Given the description of an element on the screen output the (x, y) to click on. 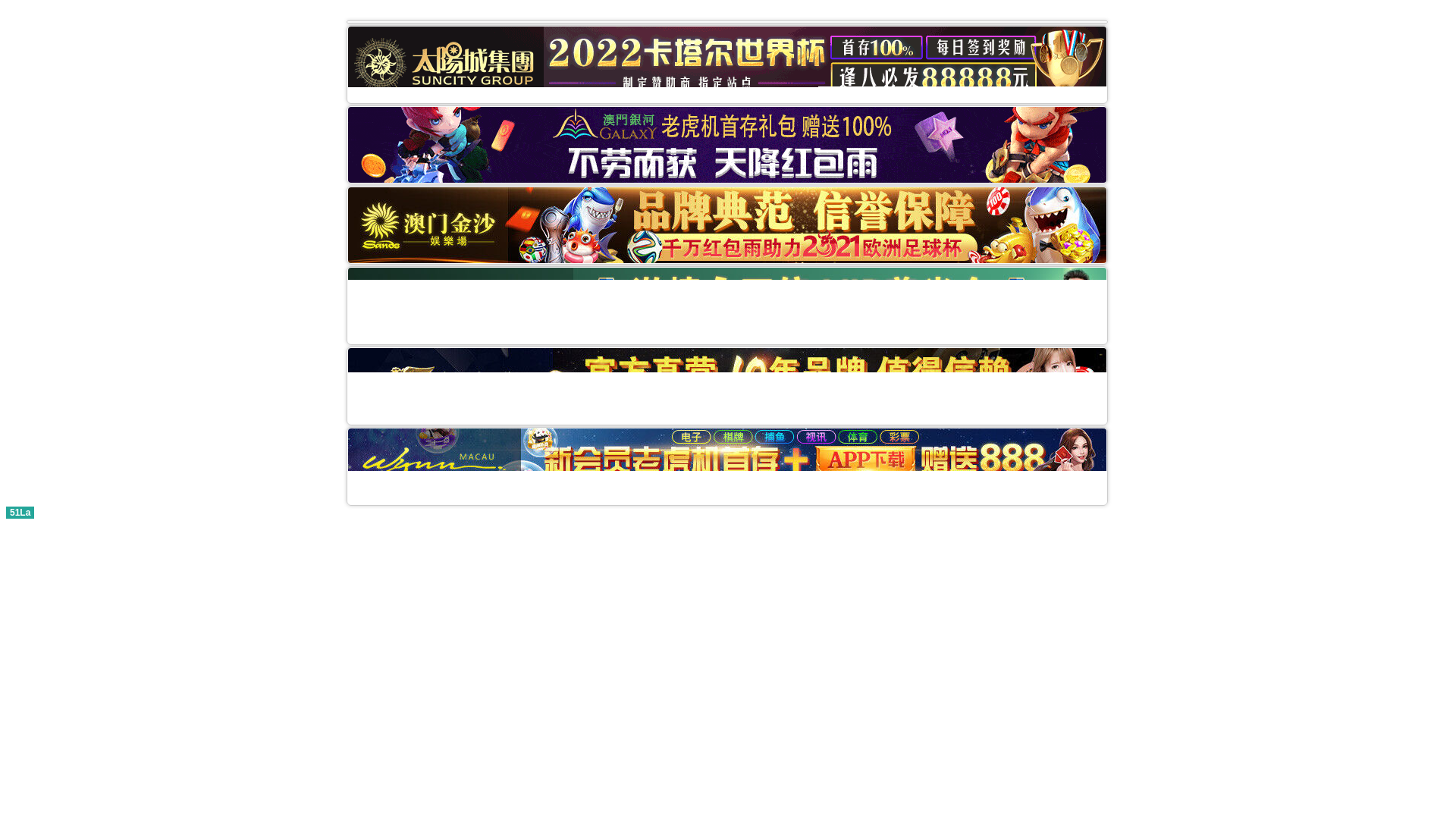
51La Element type: text (20, 56)
